Given the description of an element on the screen output the (x, y) to click on. 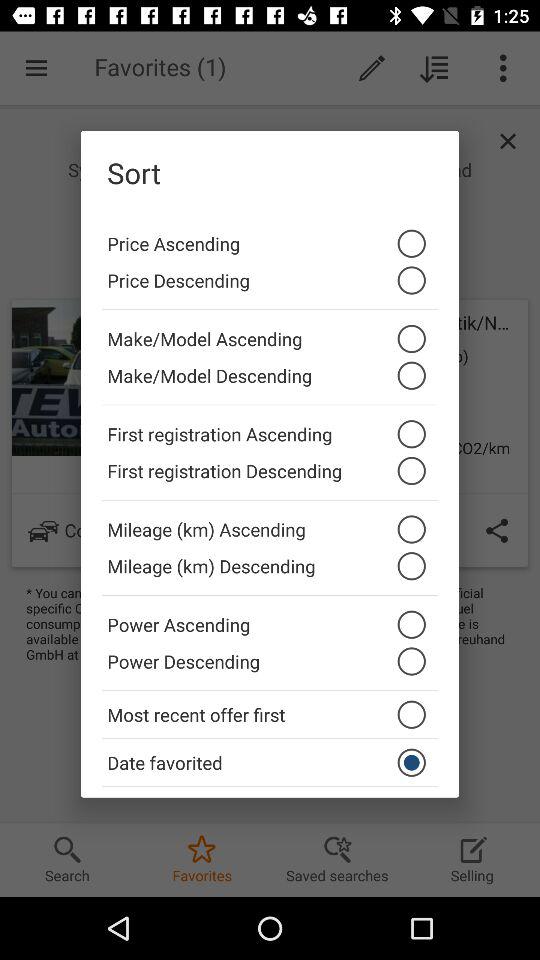
turn on power descending icon (269, 666)
